Given the description of an element on the screen output the (x, y) to click on. 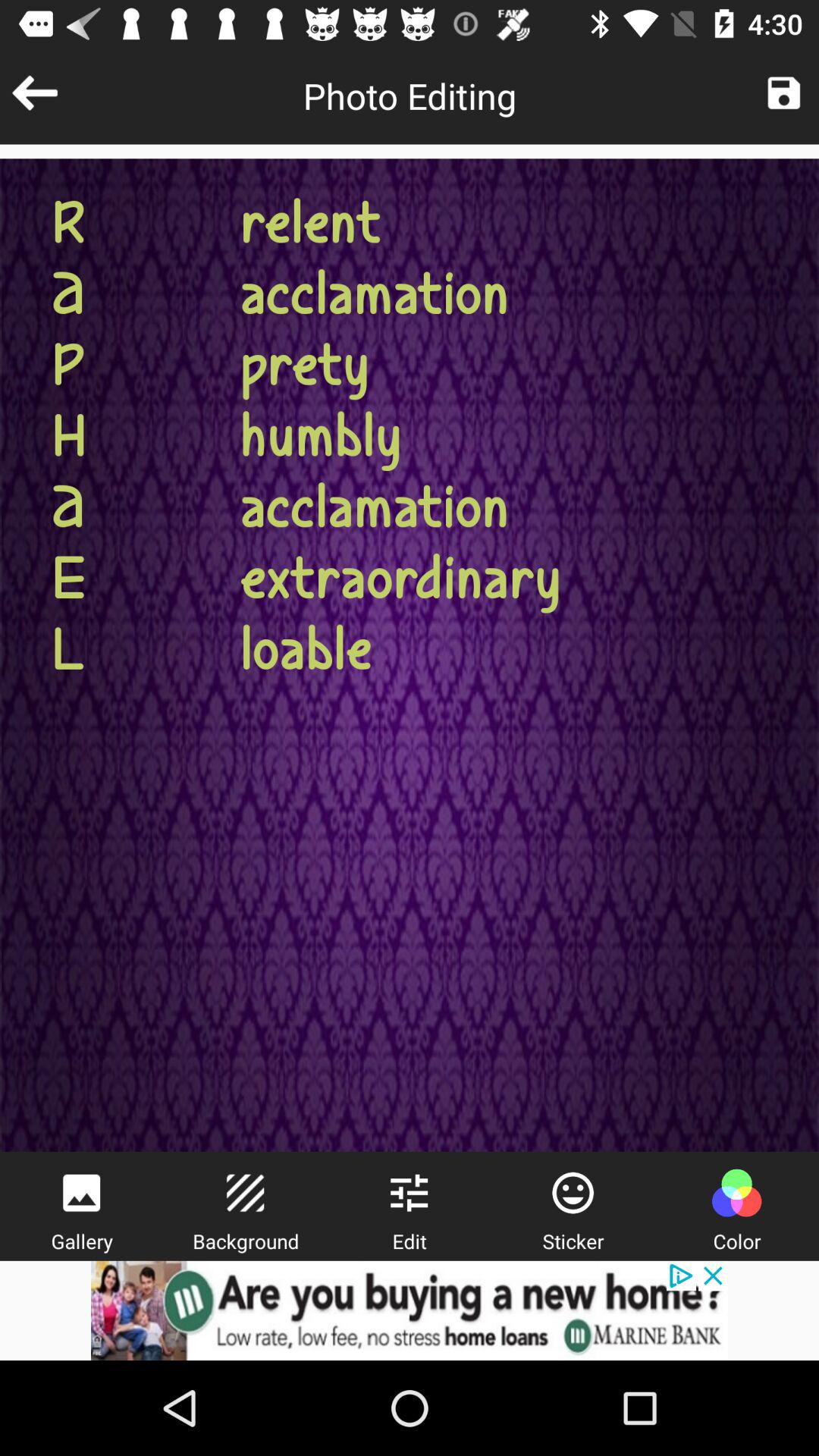
select the stricker (572, 1192)
